Given the description of an element on the screen output the (x, y) to click on. 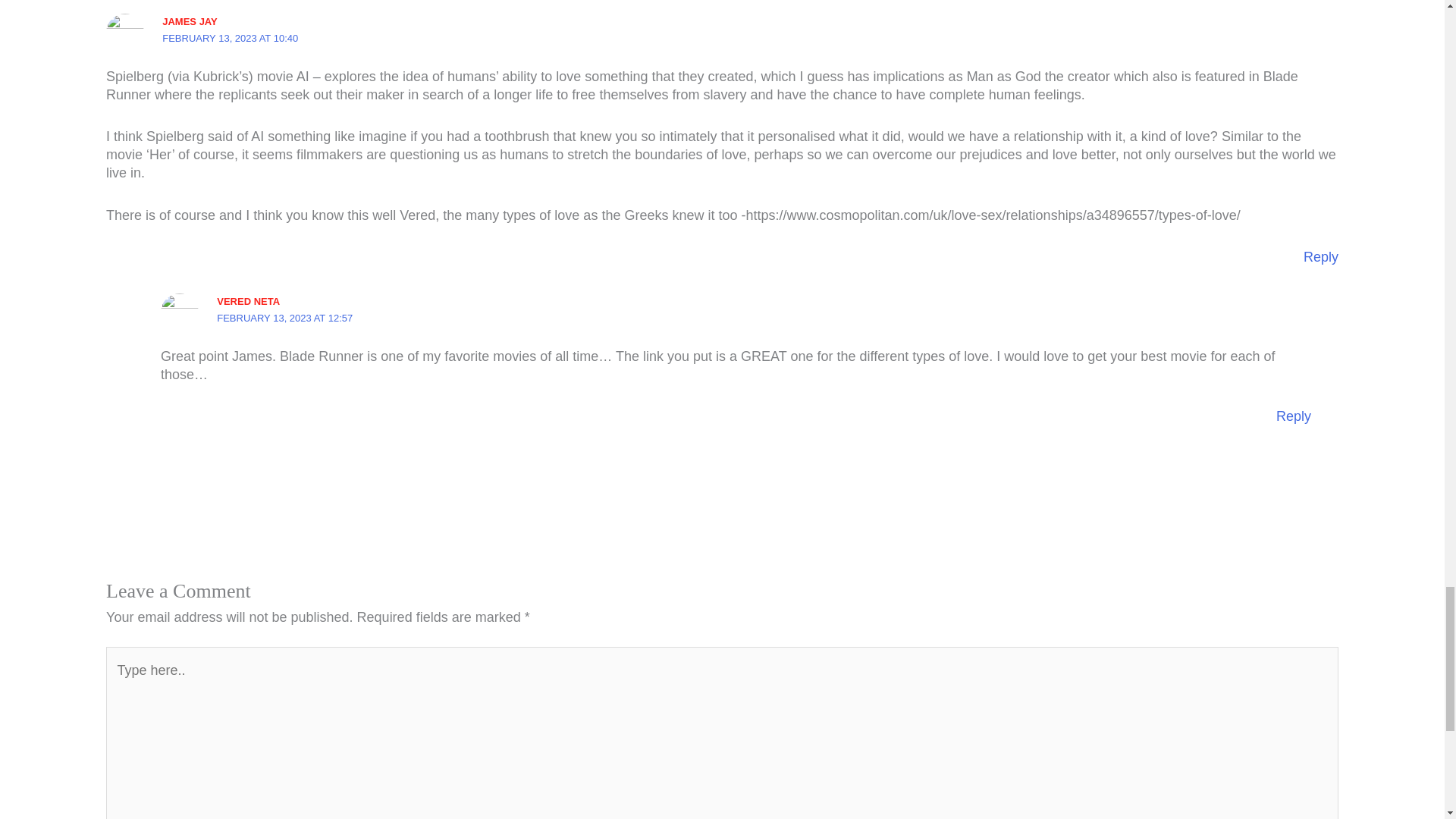
FEBRUARY 13, 2023 AT 12:57 (284, 317)
FEBRUARY 13, 2023 AT 10:40 (229, 38)
Reply (1320, 256)
Reply (1293, 416)
